Given the description of an element on the screen output the (x, y) to click on. 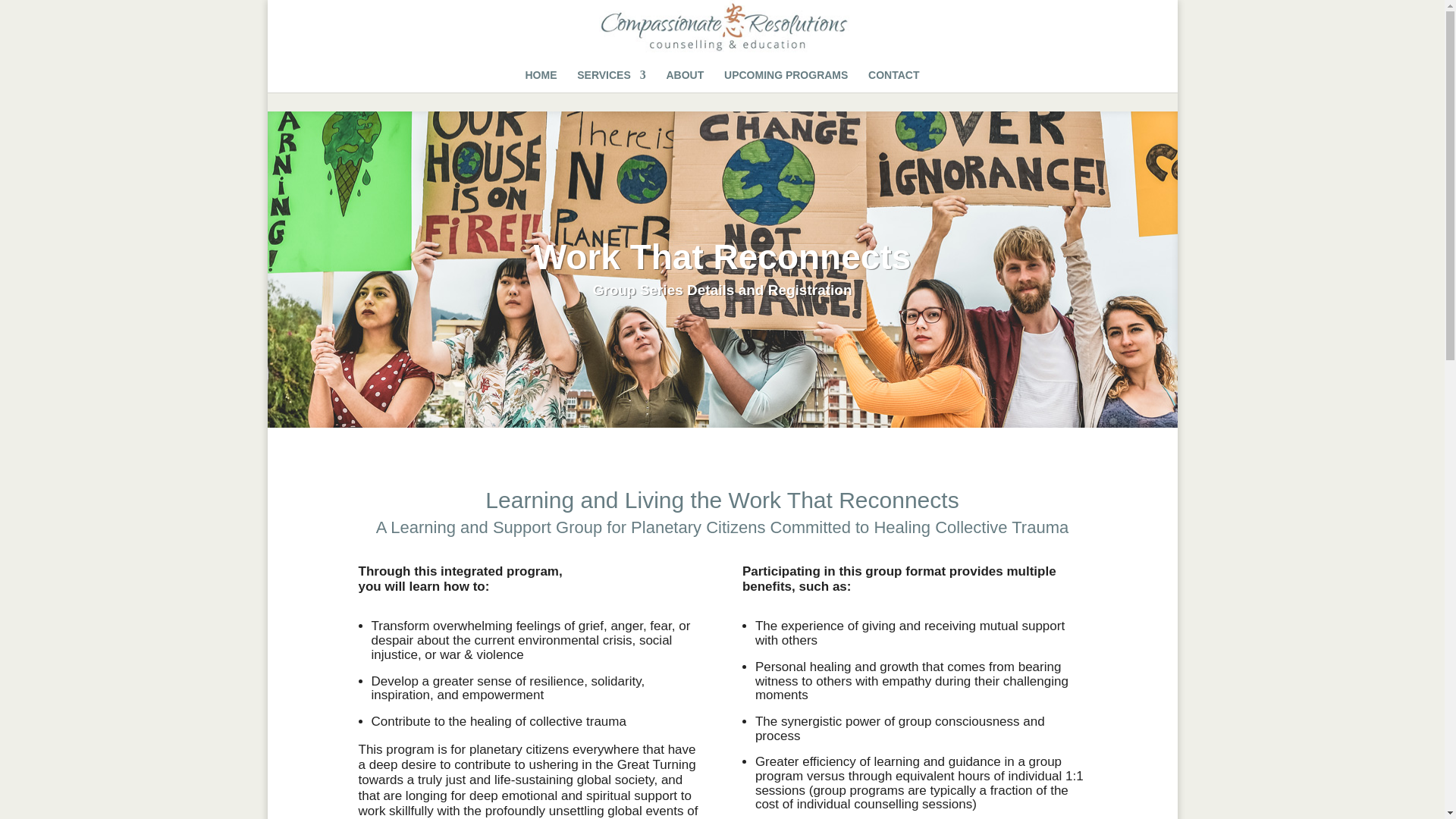
HOME (540, 80)
SERVICES (611, 80)
ABOUT (684, 80)
UPCOMING PROGRAMS (785, 80)
CONTACT (892, 80)
